Given the description of an element on the screen output the (x, y) to click on. 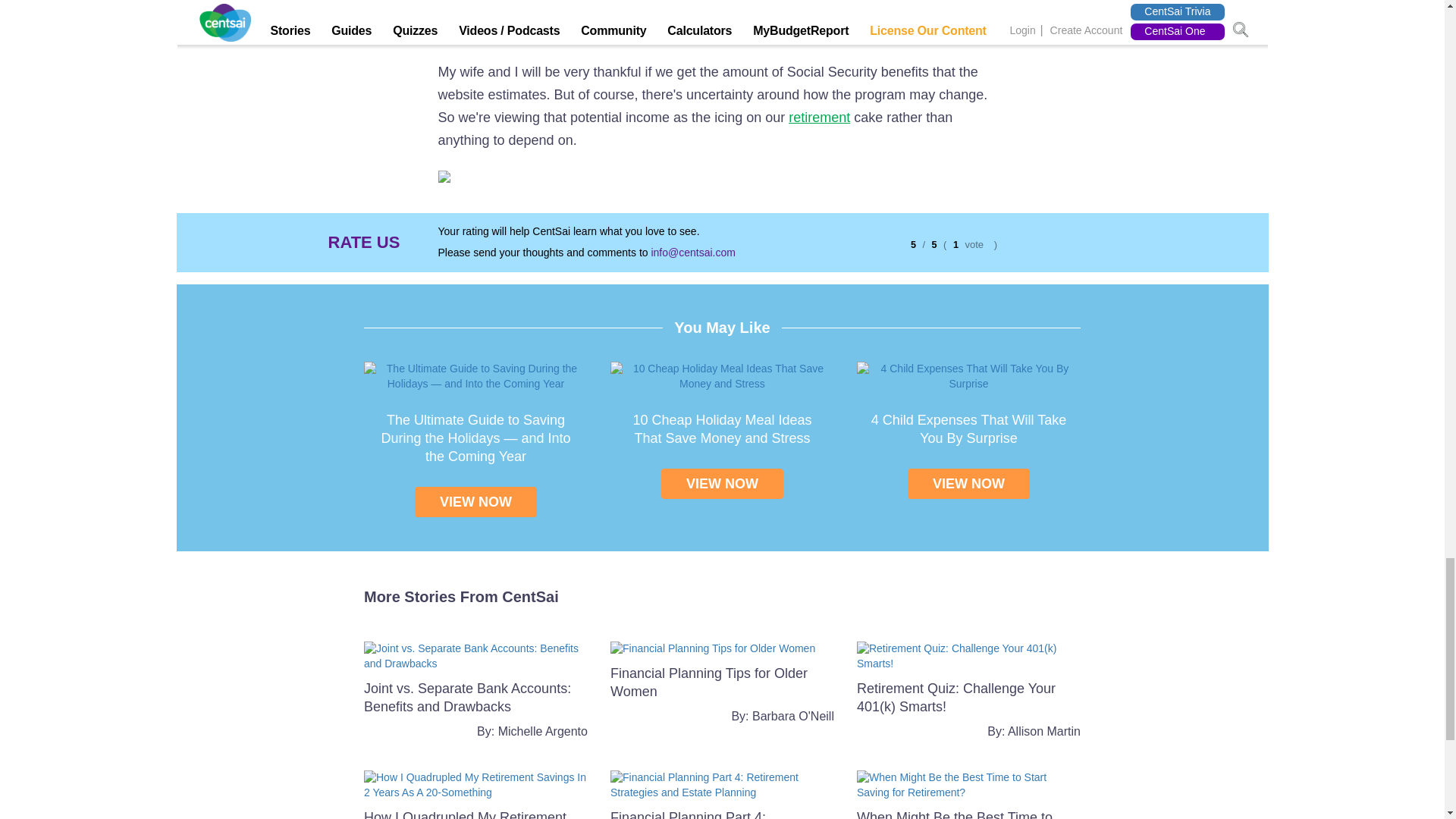
4 Child Expenses That Will Take You By Surprise (967, 428)
VIEW NOW (722, 483)
10 Cheap Holiday Meal Ideas That Save Money and Stress (722, 376)
VIEW NOW (968, 483)
4 Child Expenses That Will Take You By Surprise (968, 376)
VIEW NOW (475, 501)
Financial Planning Tips for Older Women (712, 648)
Financial Planning Tips for Older Women (709, 682)
10 Cheap Holiday Meal Ideas That Save Money and Stress (720, 428)
Joint vs. Separate Bank Accounts: Benefits and Drawbacks (476, 655)
